Given the description of an element on the screen output the (x, y) to click on. 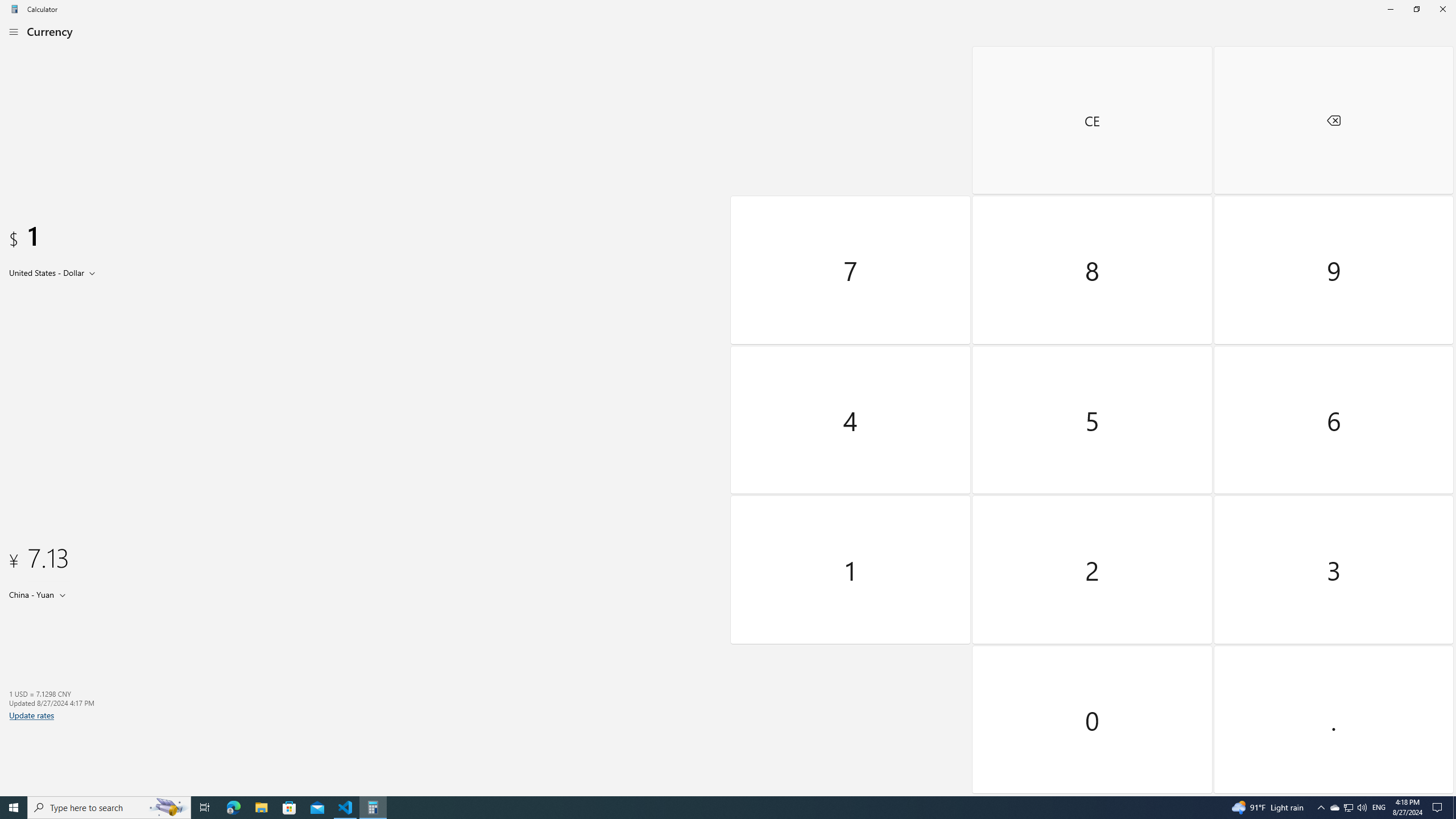
Five (1092, 419)
Two (1092, 569)
China Yuan (31, 593)
Decimal separator (1333, 719)
United States Dollar (45, 272)
Backspace (1333, 119)
Restore Calculator (1416, 9)
Output unit (39, 593)
